Given the description of an element on the screen output the (x, y) to click on. 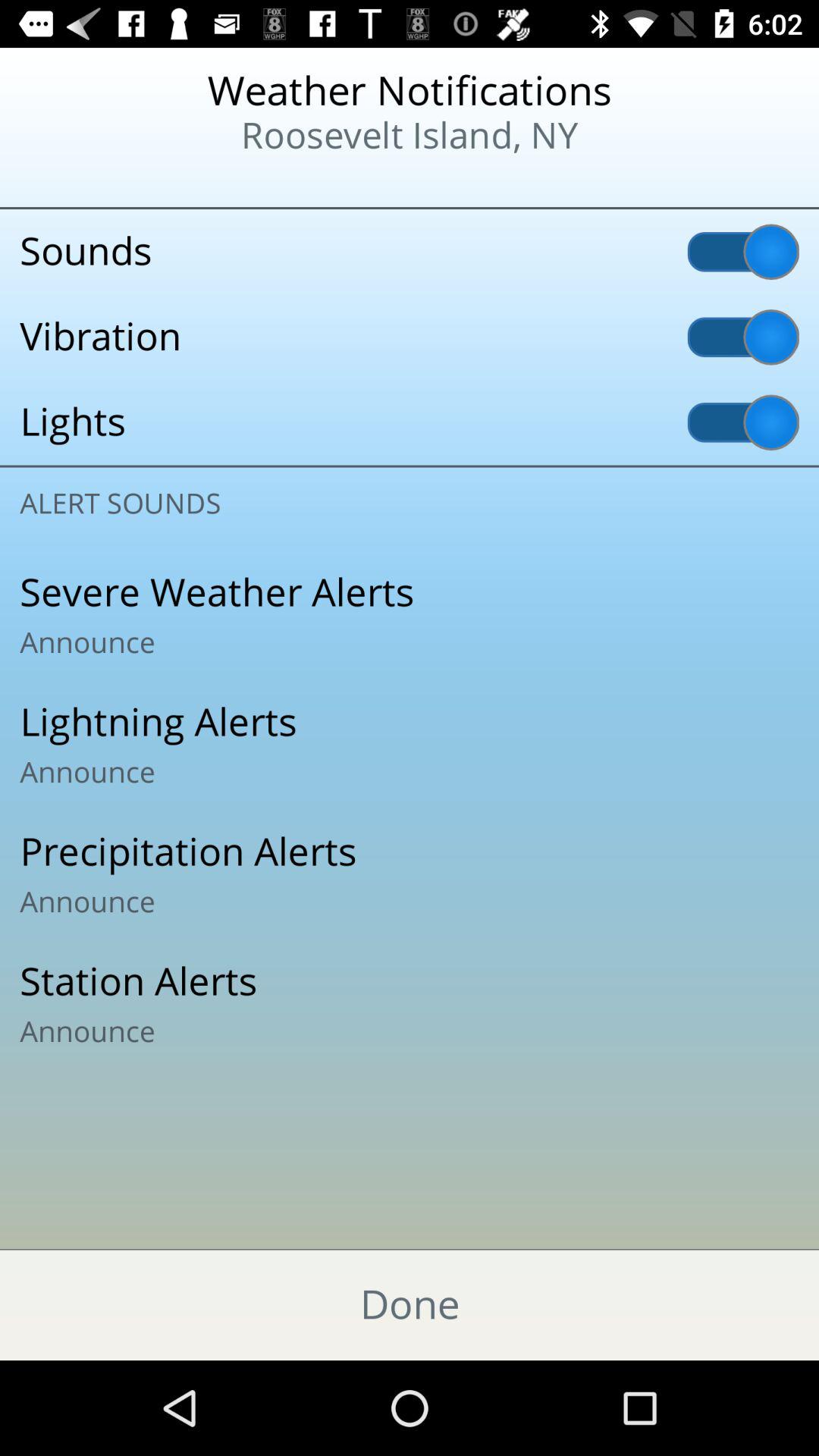
scroll until done (409, 1305)
